Given the description of an element on the screen output the (x, y) to click on. 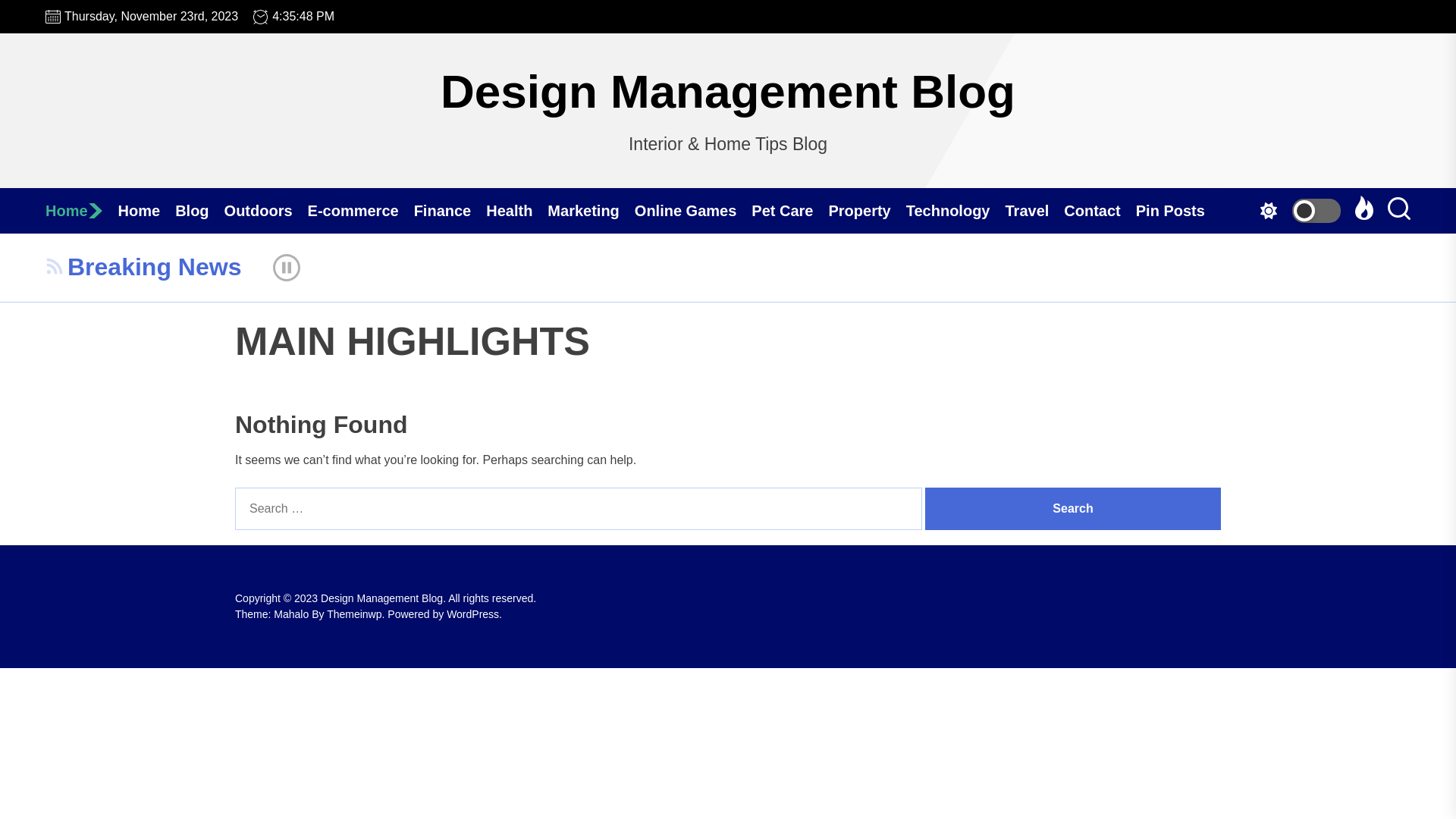
Property Element type: text (866, 210)
Home Element type: text (81, 210)
Online Games Element type: text (693, 210)
Travel Element type: text (1033, 210)
Technology Element type: text (955, 210)
Pin Posts Element type: text (1177, 210)
Design Management Blog Element type: text (727, 91)
Health Element type: text (516, 210)
Design Management Blog. Element type: text (384, 598)
Marketing Element type: text (590, 210)
Outdoors Element type: text (265, 210)
Contact Element type: text (1099, 210)
WordPress. Element type: text (474, 614)
Finance Element type: text (450, 210)
Home Element type: text (146, 210)
Themeinwp. Element type: text (356, 614)
Search Element type: text (1072, 508)
E-commerce Element type: text (360, 210)
Pet Care Element type: text (789, 210)
Blog Element type: text (199, 210)
